Given the description of an element on the screen output the (x, y) to click on. 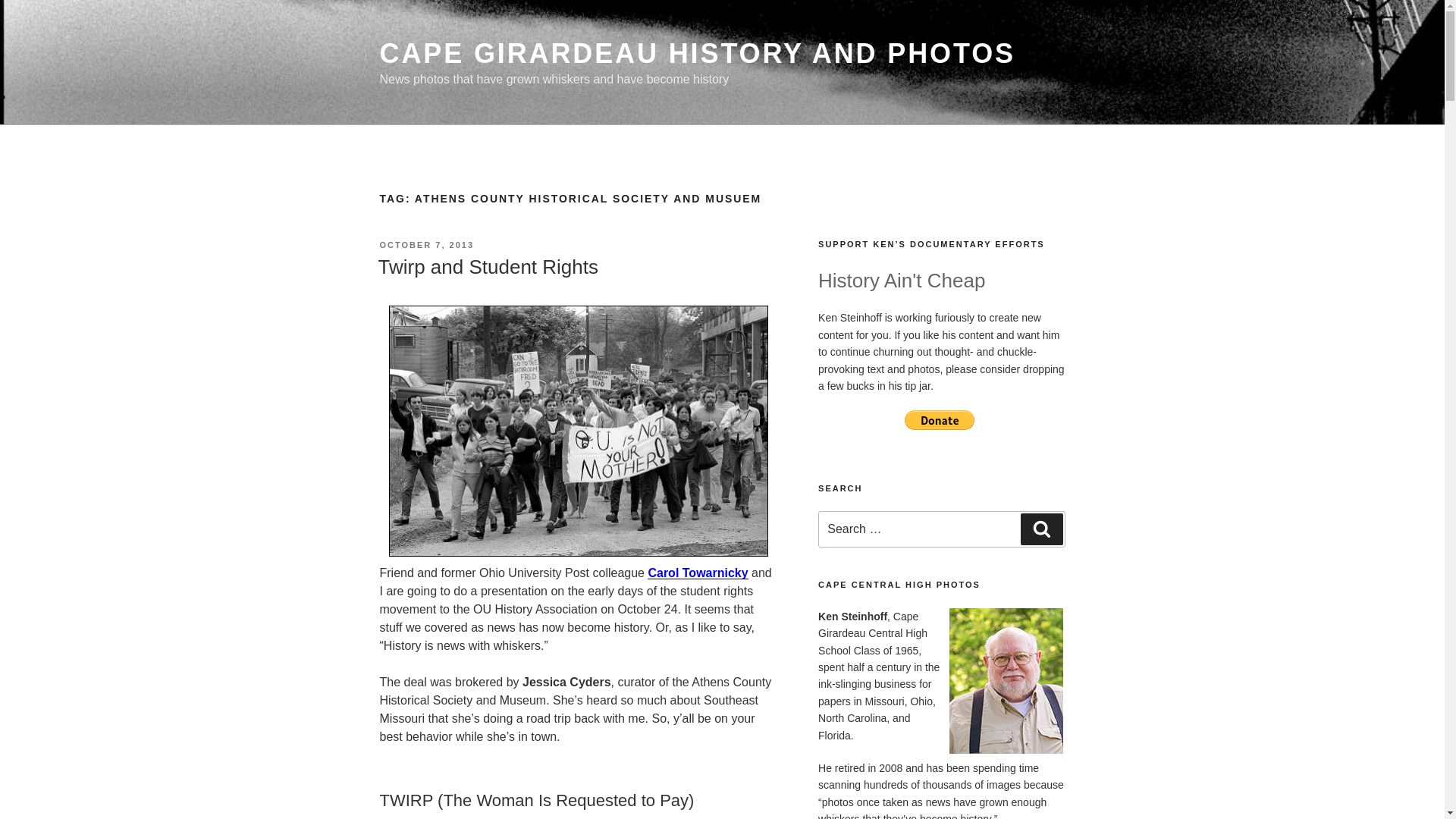
Carol Towarnicky in Cairo (697, 572)
CAPE GIRARDEAU HISTORY AND PHOTOS (696, 52)
Carol Towarnicky (697, 572)
Twirp and Student Rights (487, 266)
Search (1041, 529)
OCTOBER 7, 2013 (426, 244)
